Given the description of an element on the screen output the (x, y) to click on. 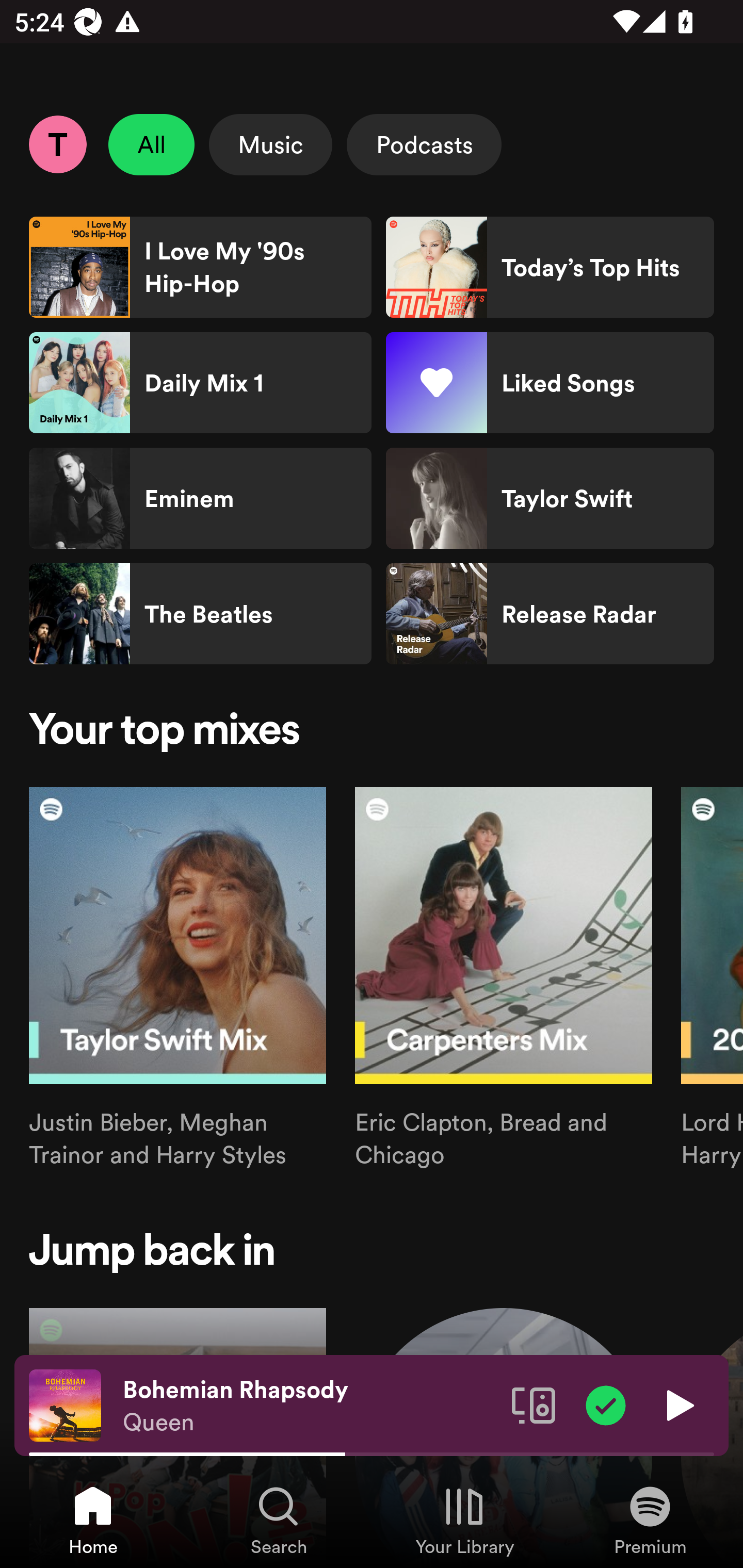
Profile (57, 144)
All Unselect All (151, 144)
Music Select Music (270, 144)
Podcasts Select Podcasts (423, 144)
Today’s Top Hits Shortcut Today’s Top Hits (549, 267)
Daily Mix 1 Shortcut Daily Mix 1 (199, 382)
Liked Songs Shortcut Liked Songs (549, 382)
Eminem Shortcut Eminem (199, 498)
Taylor Swift Shortcut Taylor Swift (549, 498)
The Beatles Shortcut The Beatles (199, 613)
Release Radar Shortcut Release Radar (549, 613)
Bohemian Rhapsody Queen (309, 1405)
The cover art of the currently playing track (64, 1404)
Connect to a device. Opens the devices menu (533, 1404)
Item added (605, 1404)
Play (677, 1404)
Home, Tab 1 of 4 Home Home (92, 1519)
Search, Tab 2 of 4 Search Search (278, 1519)
Your Library, Tab 3 of 4 Your Library Your Library (464, 1519)
Premium, Tab 4 of 4 Premium Premium (650, 1519)
